Given the description of an element on the screen output the (x, y) to click on. 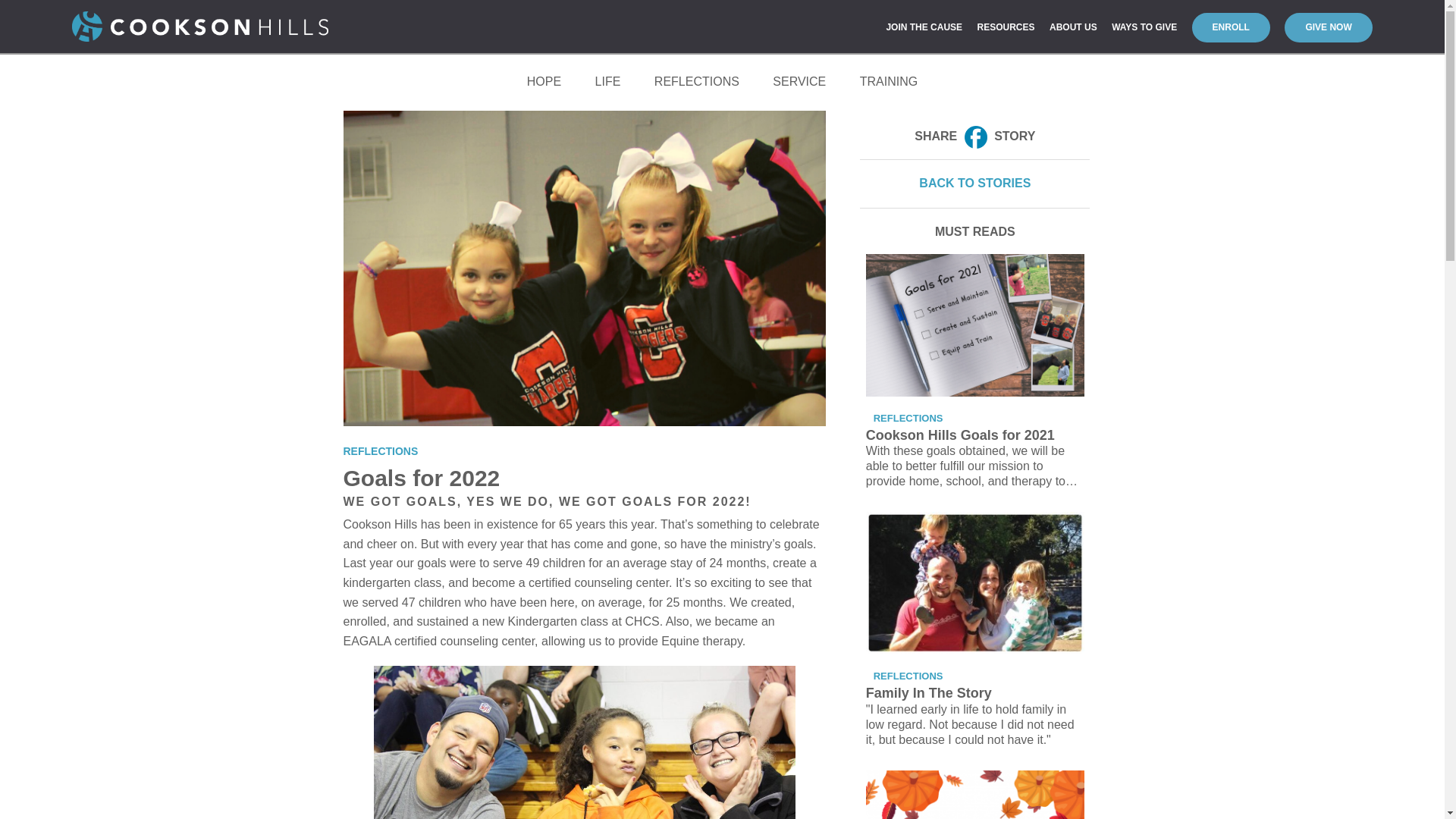
RESOURCES (1005, 27)
SERVICE (799, 81)
Training (888, 81)
REFLECTIONS (696, 81)
WAYS TO GIVE (1144, 27)
REFLECTIONS (383, 451)
Life (608, 81)
Cookson Hills Goals for 2021 (975, 324)
A Season To Be Thankful For (975, 794)
LIFE (608, 81)
